Given the description of an element on the screen output the (x, y) to click on. 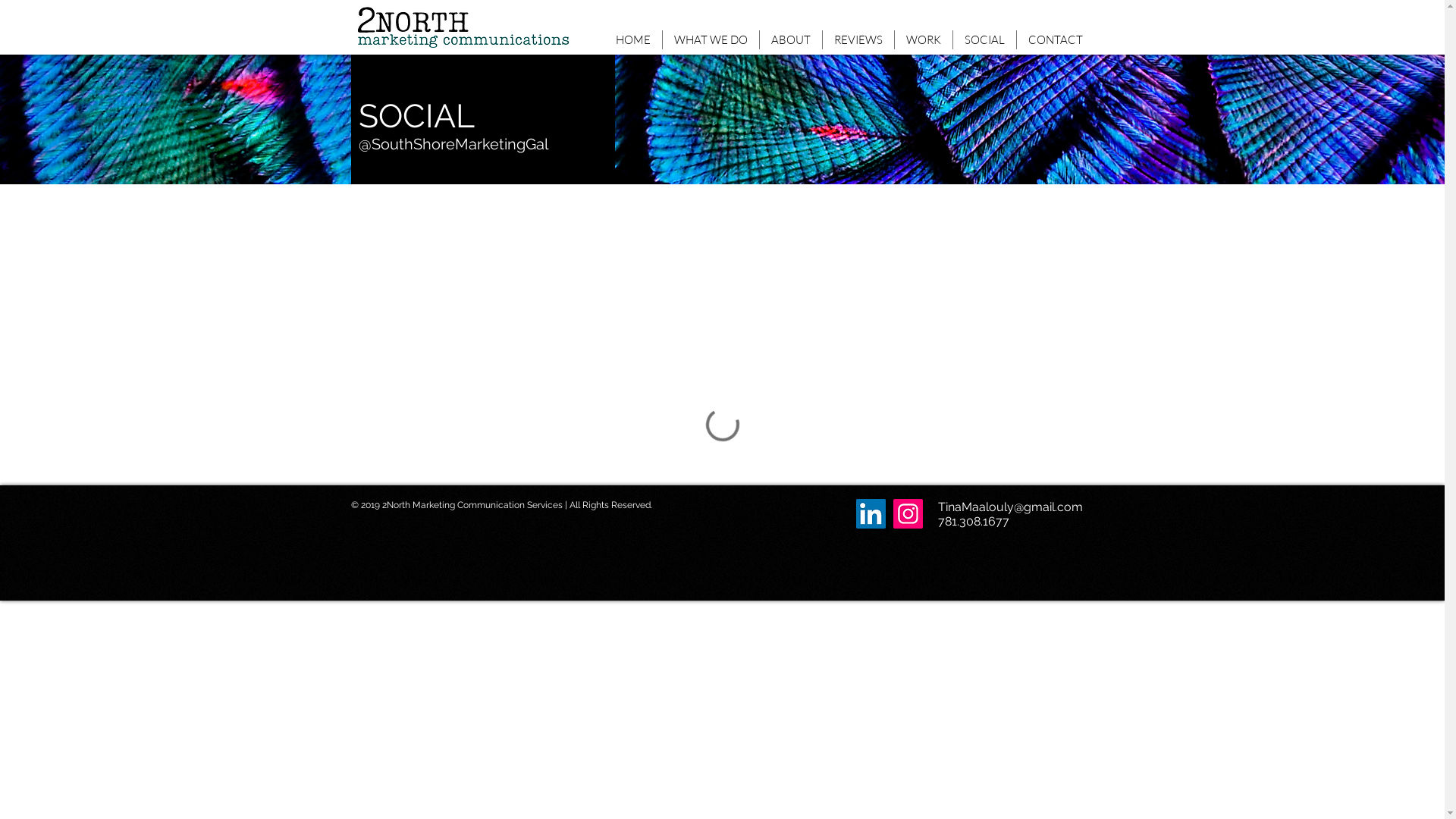
WHAT WE DO Element type: text (710, 39)
Instagram Feeds Element type: hover (721, 333)
SOCIAL Element type: text (983, 39)
ABOUT Element type: text (790, 39)
REVIEWS Element type: text (857, 39)
HOME Element type: text (632, 39)
CONTACT Element type: text (1054, 39)
TinaMaalouly@gmail.com Element type: text (1009, 506)
WORK Element type: text (923, 39)
